Given the description of an element on the screen output the (x, y) to click on. 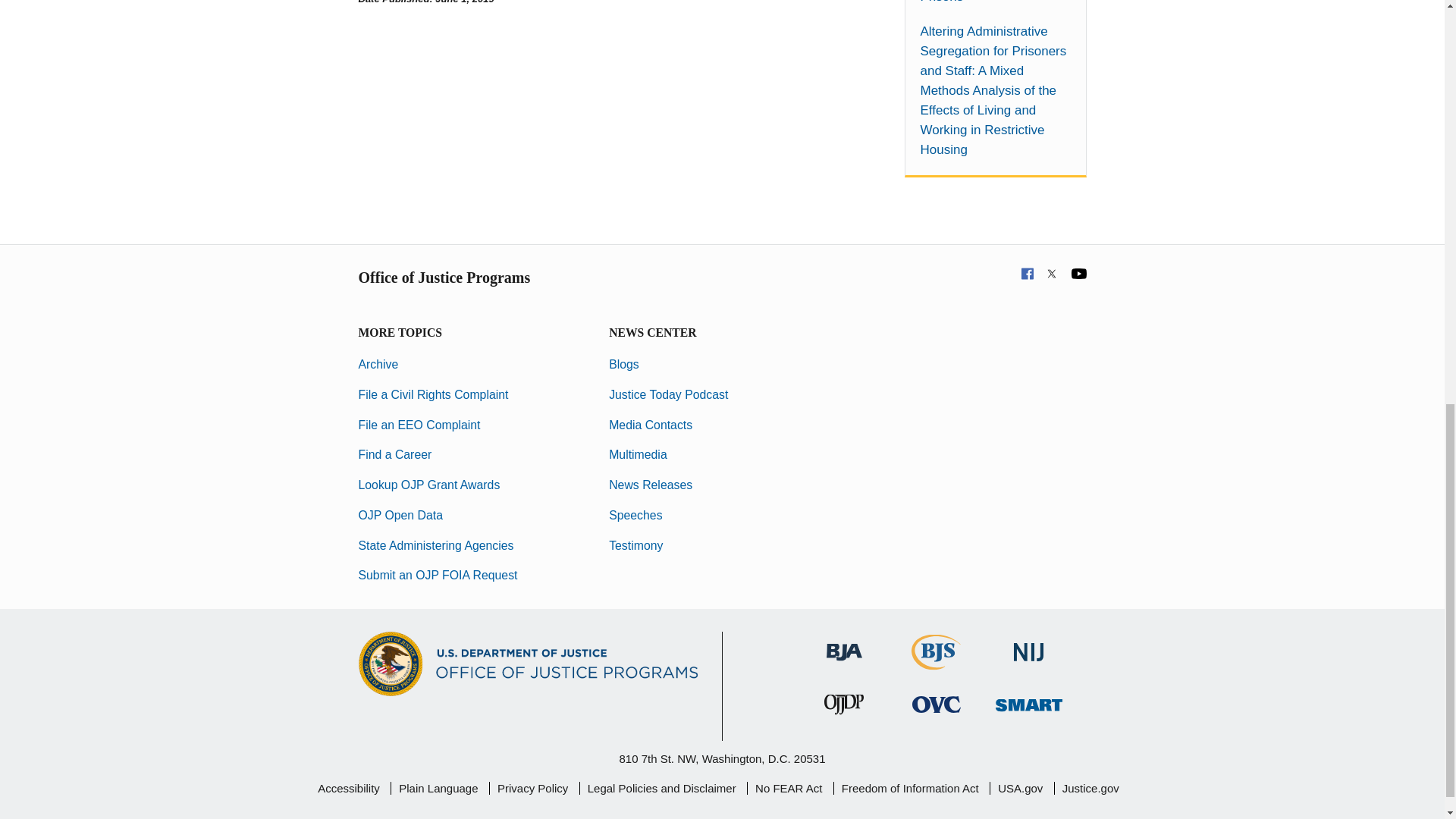
Administrative Segregation in U.S. Prisons (995, 3)
Archive (377, 364)
Administrative Segregation in U.S. Prisons (995, 3)
